Given the description of an element on the screen output the (x, y) to click on. 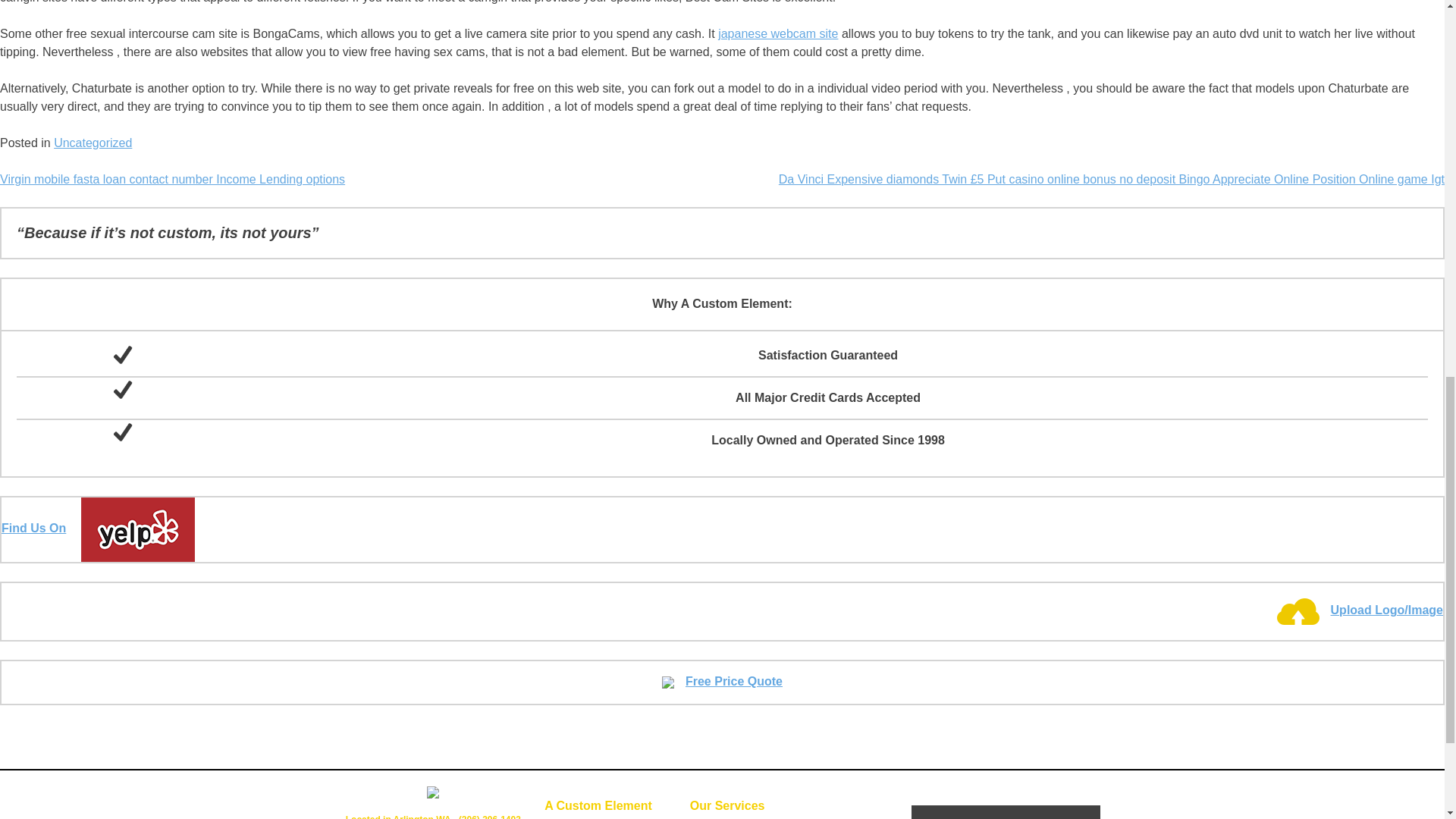
Uncategorized (92, 142)
japanese webcam site (777, 33)
Find Us On (98, 527)
Free Price Quote (722, 680)
